Given the description of an element on the screen output the (x, y) to click on. 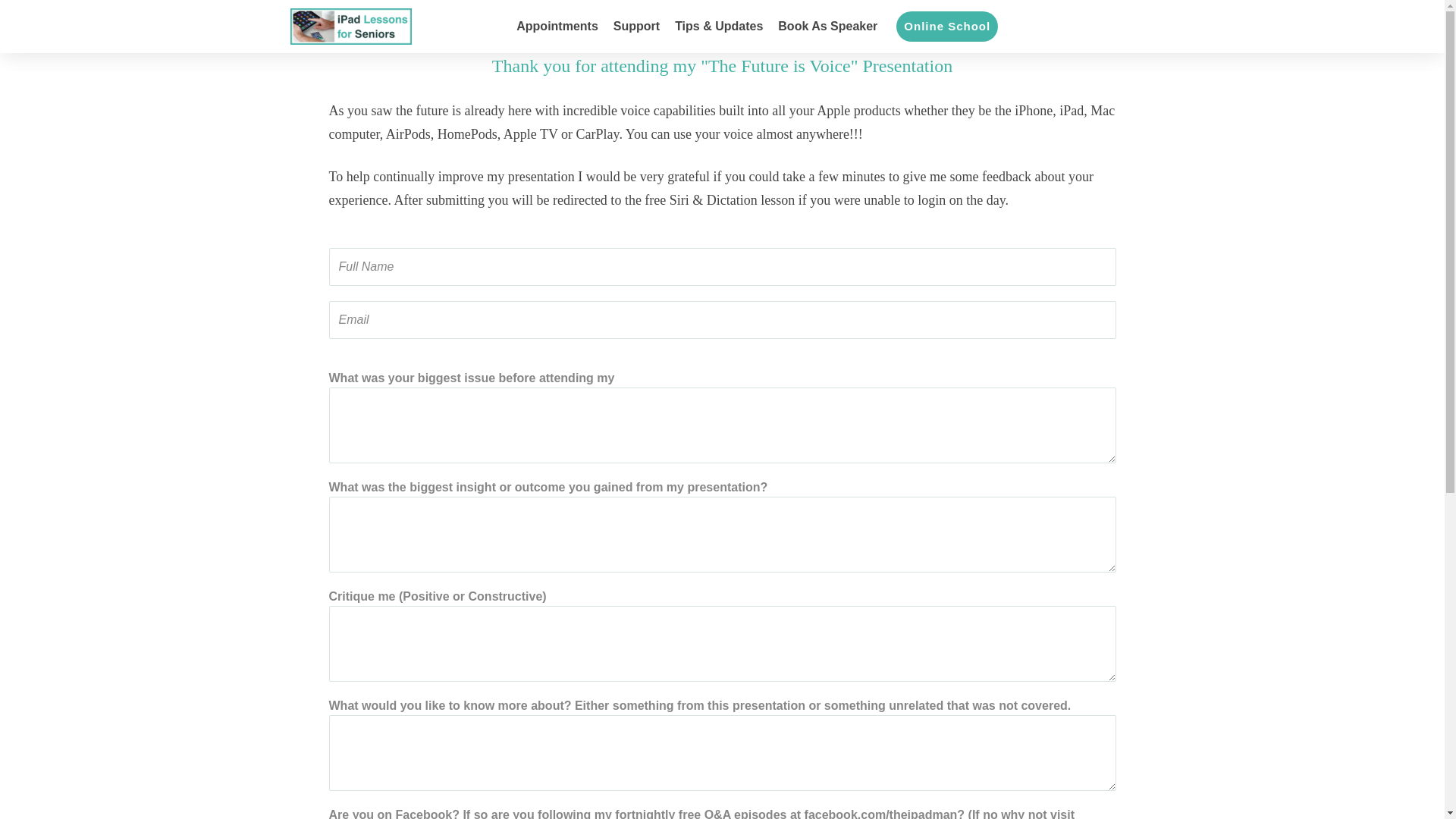
Online School (947, 26)
Support (635, 26)
Appointments (557, 26)
Book As Speaker (827, 26)
